Given the description of an element on the screen output the (x, y) to click on. 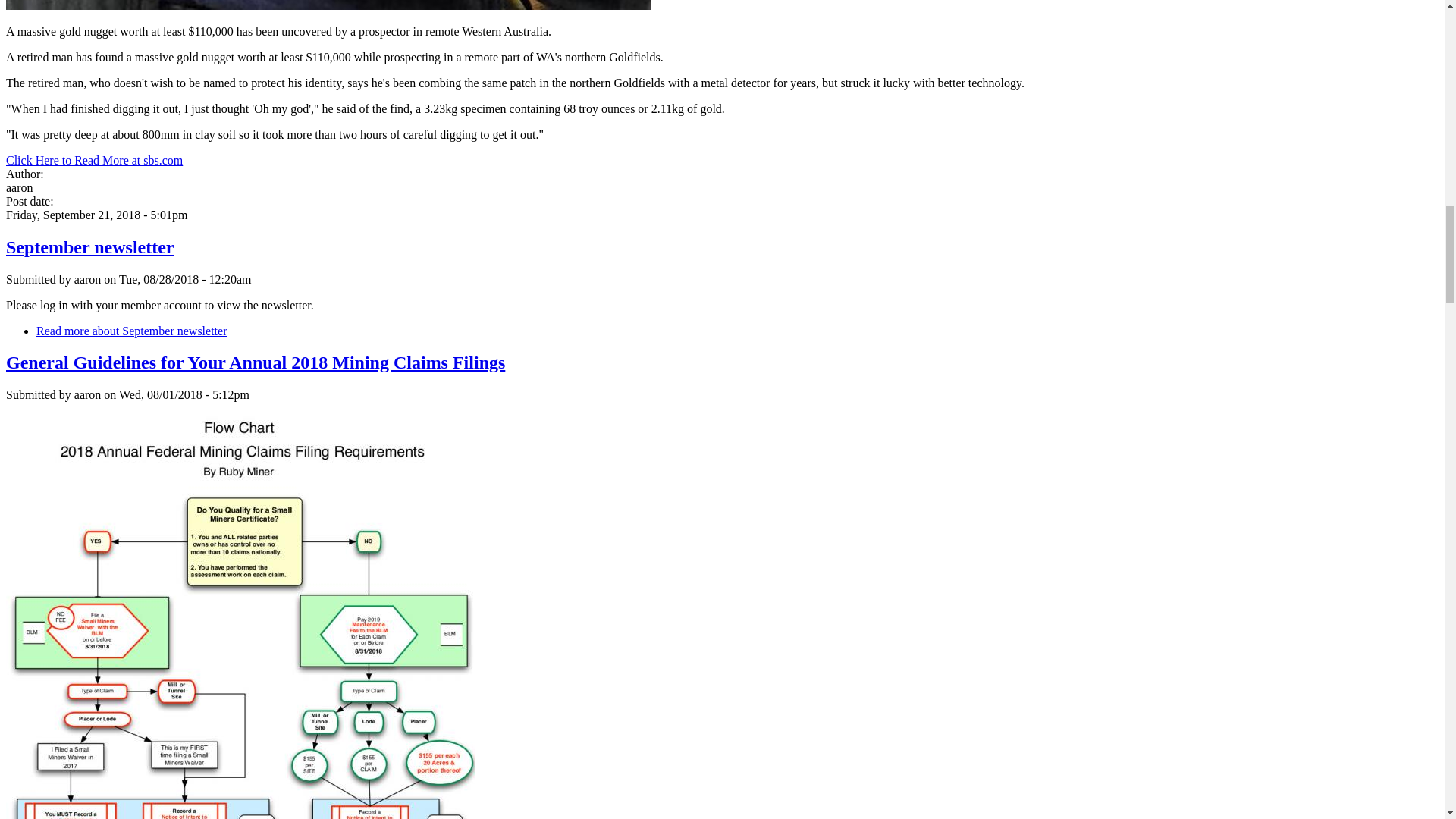
September newsletter (89, 247)
September newsletter (131, 330)
Read more about September newsletter (131, 330)
Click Here to Read More at sbs.com (94, 160)
